Given the description of an element on the screen output the (x, y) to click on. 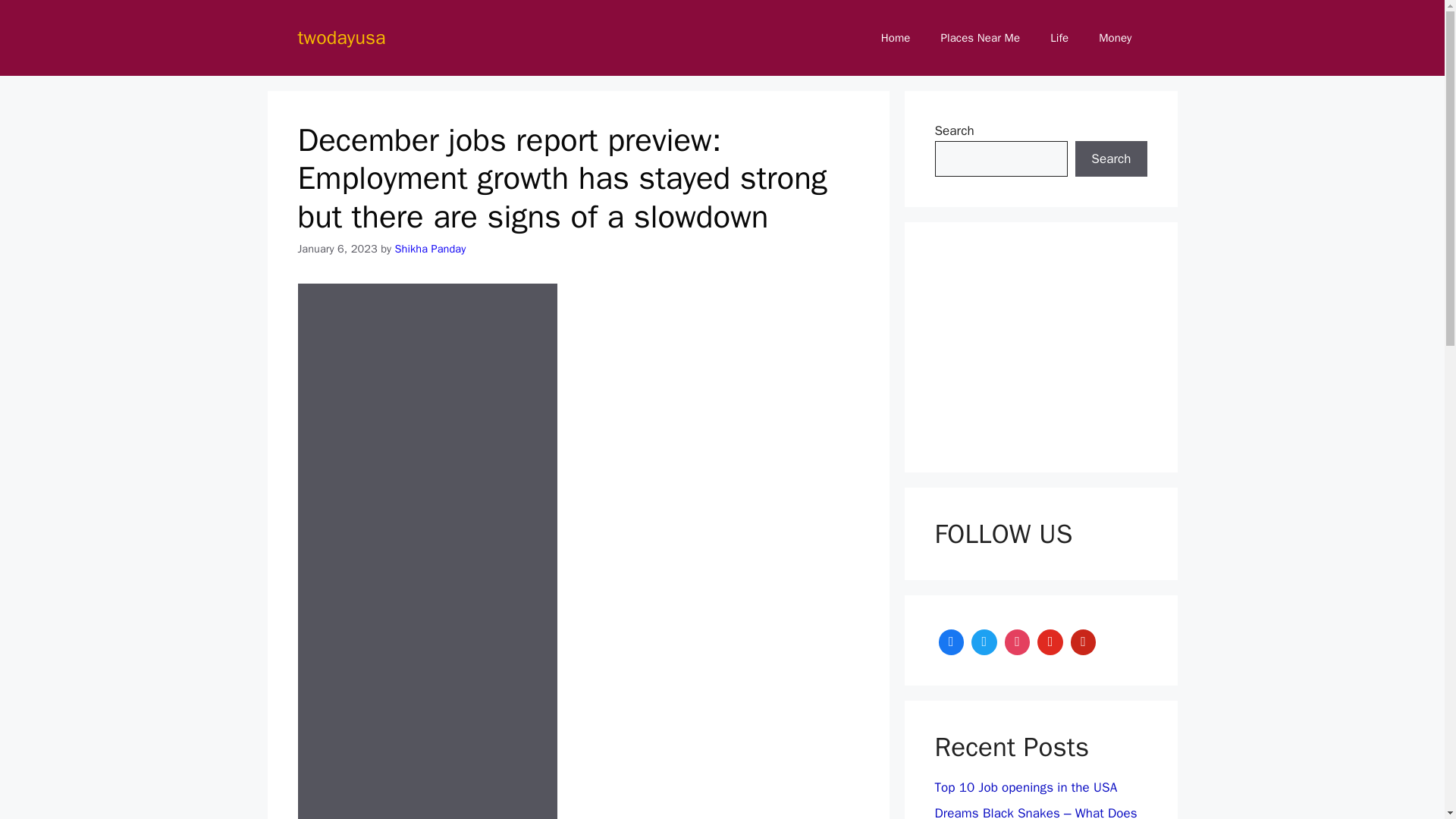
Facebook (951, 640)
Places Near Me (980, 37)
Search (1111, 158)
Instagram (1017, 640)
Life (1059, 37)
twodayusa (341, 37)
Money (1115, 37)
View all posts by Shikha Panday (429, 248)
Home (896, 37)
Top 10 Job openings in the USA (1025, 787)
Advertisement (1059, 347)
Youtube (1050, 640)
Pinterest (1083, 640)
Twitter (984, 640)
Shikha Panday (429, 248)
